Given the description of an element on the screen output the (x, y) to click on. 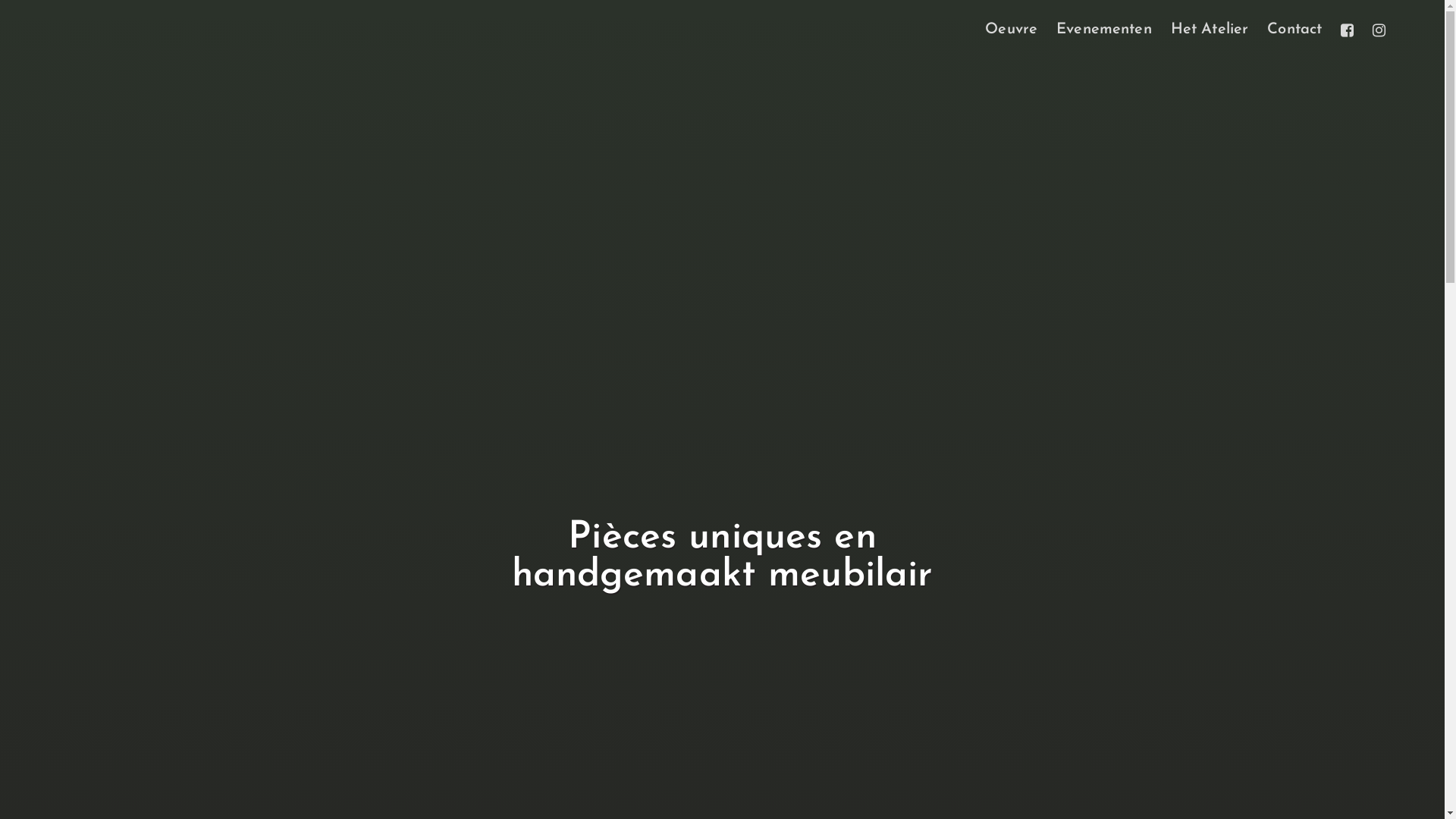
Evenementen Element type: text (1103, 29)
 Instagram Element type: hover (1378, 29)
Het Atelier Element type: text (1209, 29)
Oeuvre Element type: text (1011, 29)
Facebook Element type: hover (1346, 29)
Scroll down Element type: hover (732, 768)
Contact Element type: text (1294, 29)
